Given the description of an element on the screen output the (x, y) to click on. 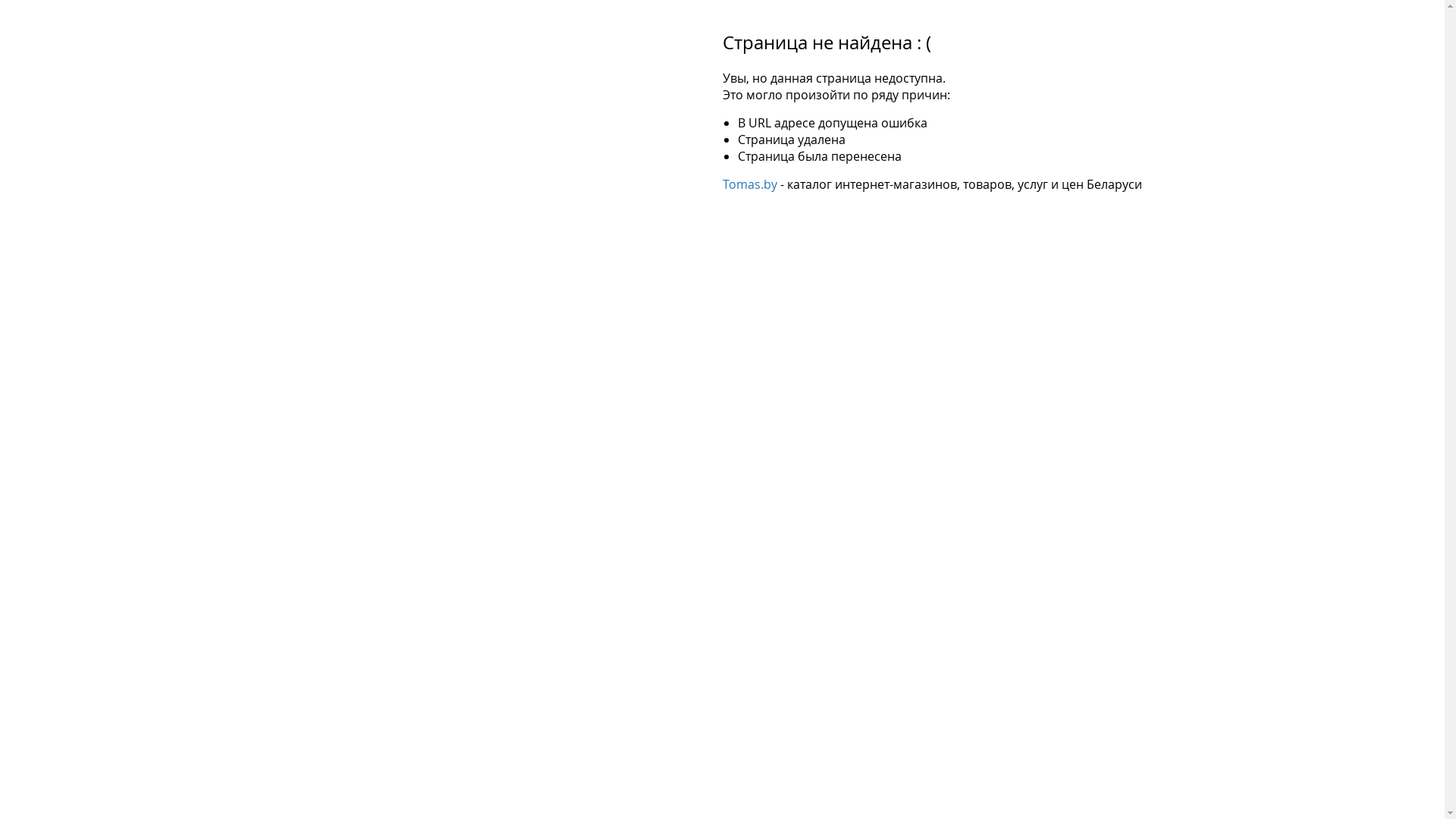
Tomas.by Element type: text (748, 183)
